Given the description of an element on the screen output the (x, y) to click on. 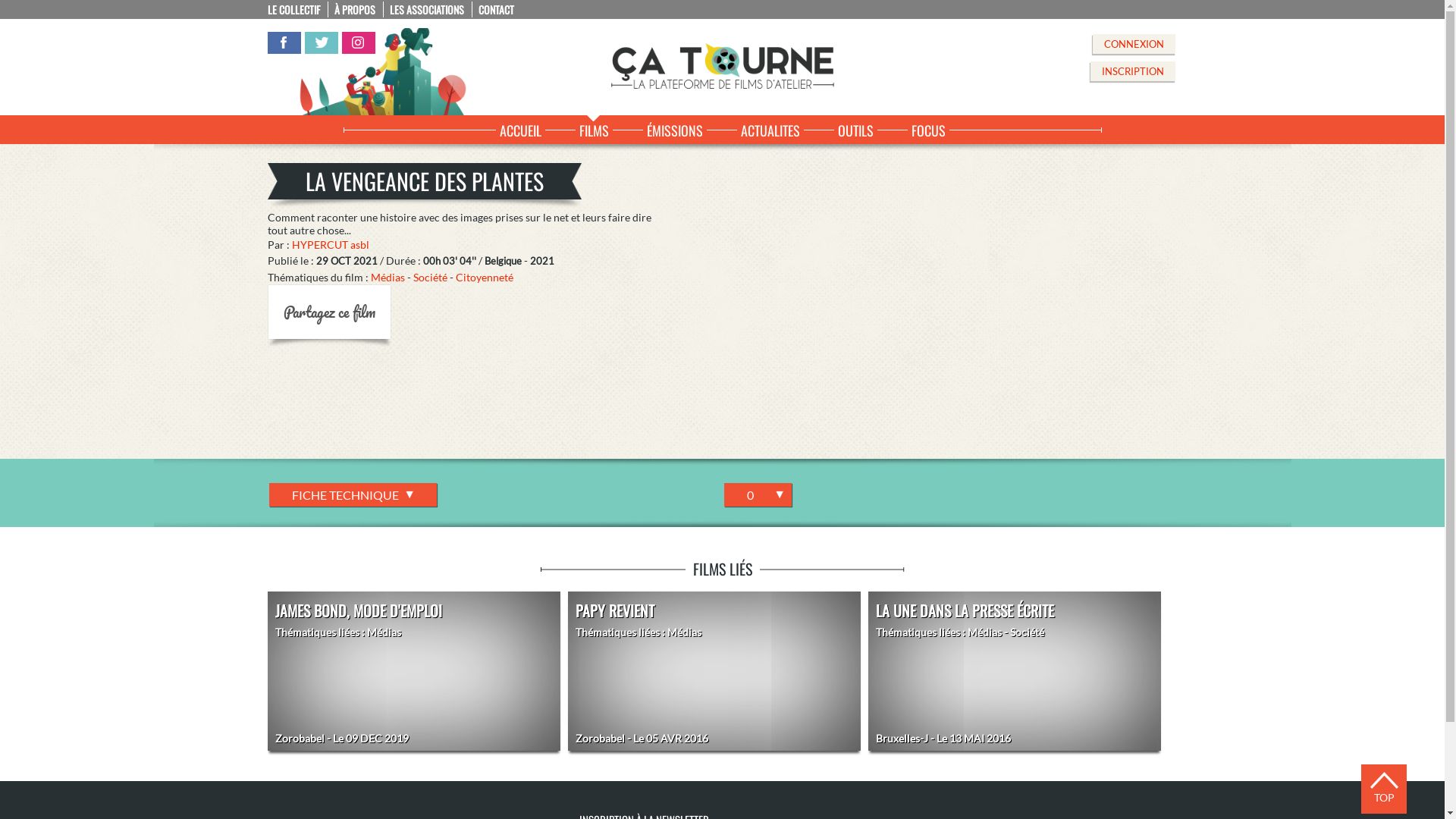
FOCUS Element type: text (927, 128)
FILMS Element type: text (592, 128)
LES ASSOCIATIONS Element type: text (430, 9)
ACCUEIL Element type: text (520, 128)
OUTILS Element type: text (855, 128)
INSCRIPTION Element type: text (1132, 71)
CONNEXION Element type: text (1133, 43)
HYPERCUT asbl Element type: text (329, 244)
CONTACT Element type: text (498, 9)
ACTUALITES Element type: text (770, 128)
LE COLLECTIF Element type: text (296, 9)
TOP Element type: text (1383, 783)
